Given the description of an element on the screen output the (x, y) to click on. 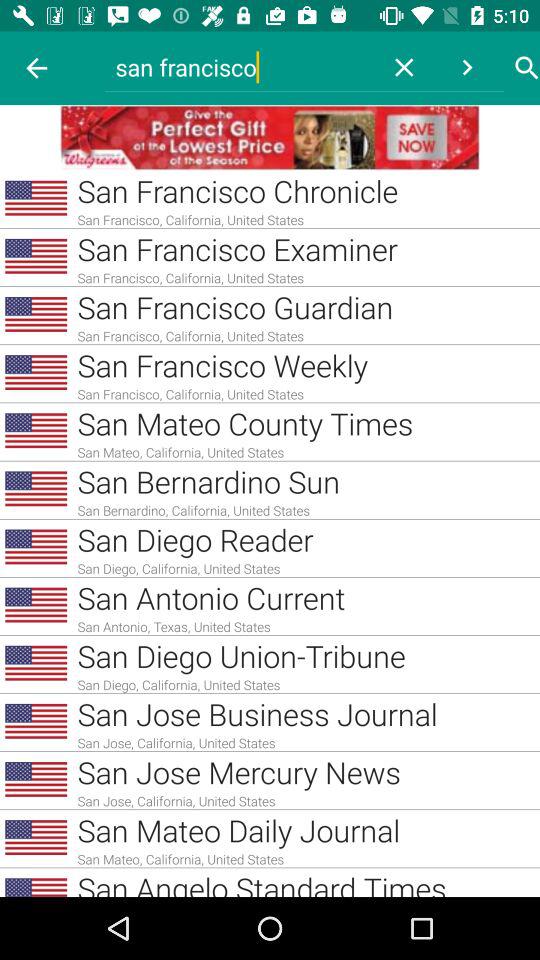
search box (527, 67)
